Given the description of an element on the screen output the (x, y) to click on. 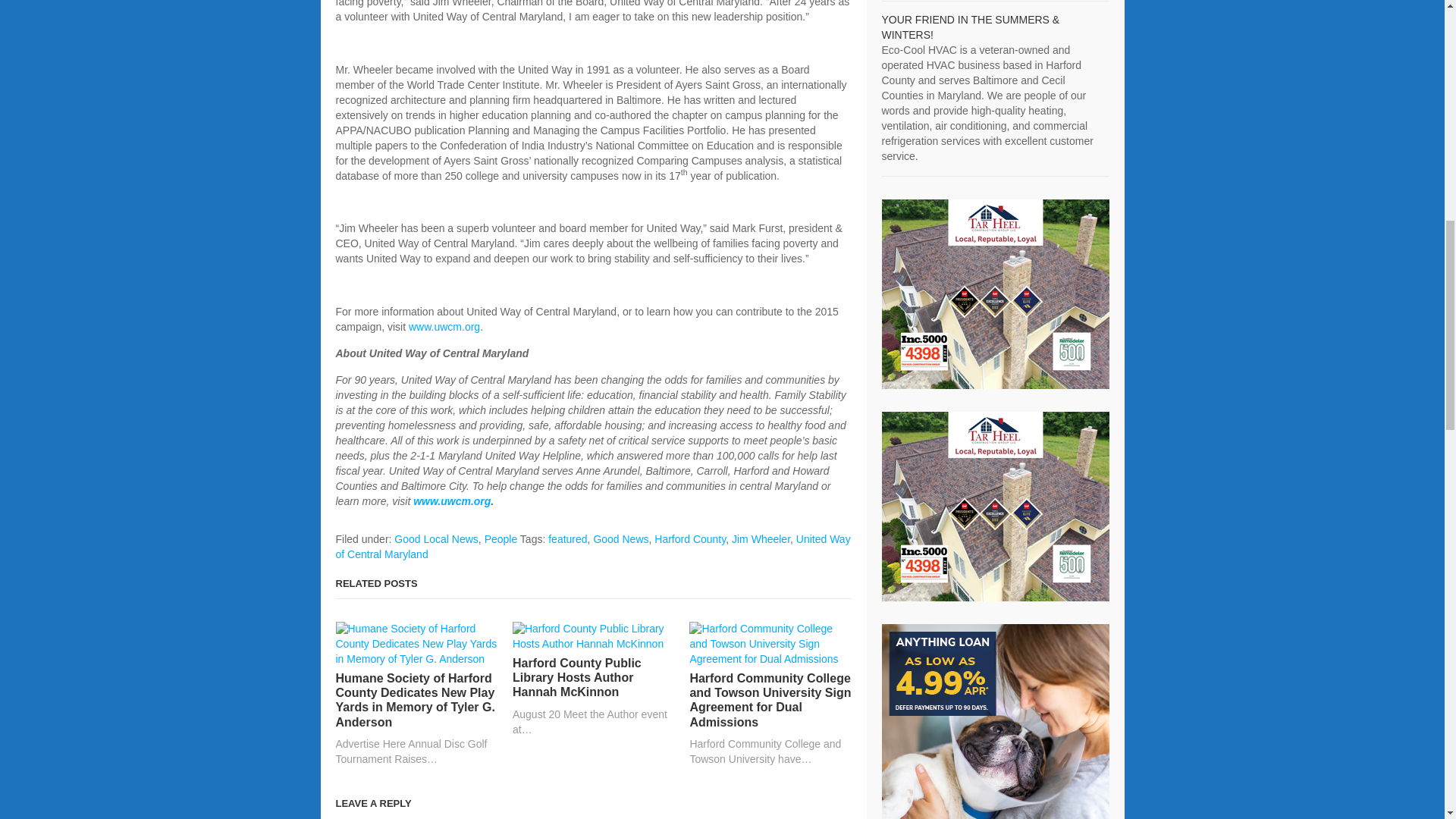
www.uwcm.org (451, 500)
www.uwcm.org (444, 326)
Good News (619, 539)
featured (567, 539)
People (501, 539)
Eco-Cool HVAC (969, 26)
Good Local News (436, 539)
